Given the description of an element on the screen output the (x, y) to click on. 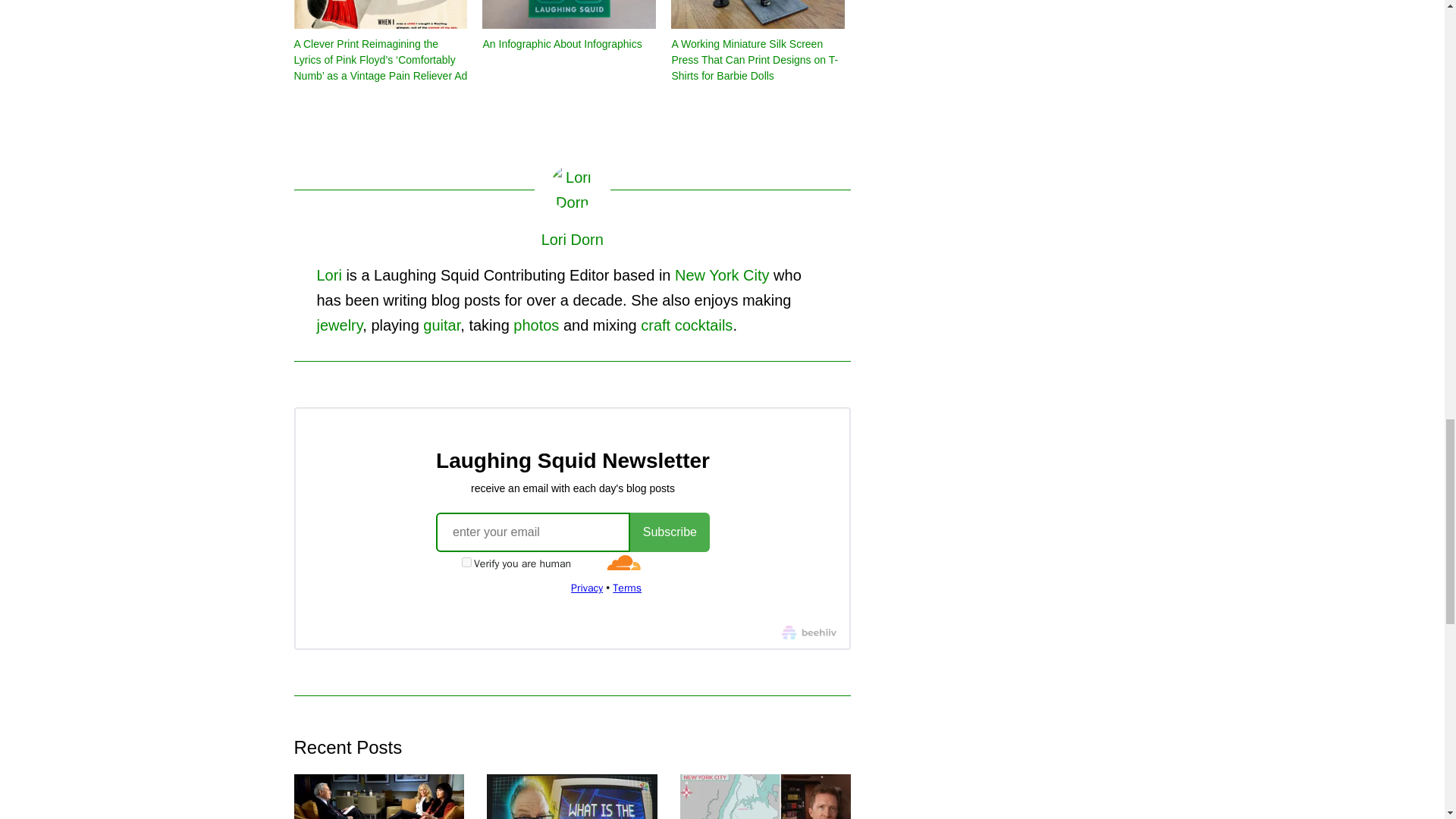
An Infographic About Infographics (561, 43)
An Infographic About Infographics (568, 14)
